Given the description of an element on the screen output the (x, y) to click on. 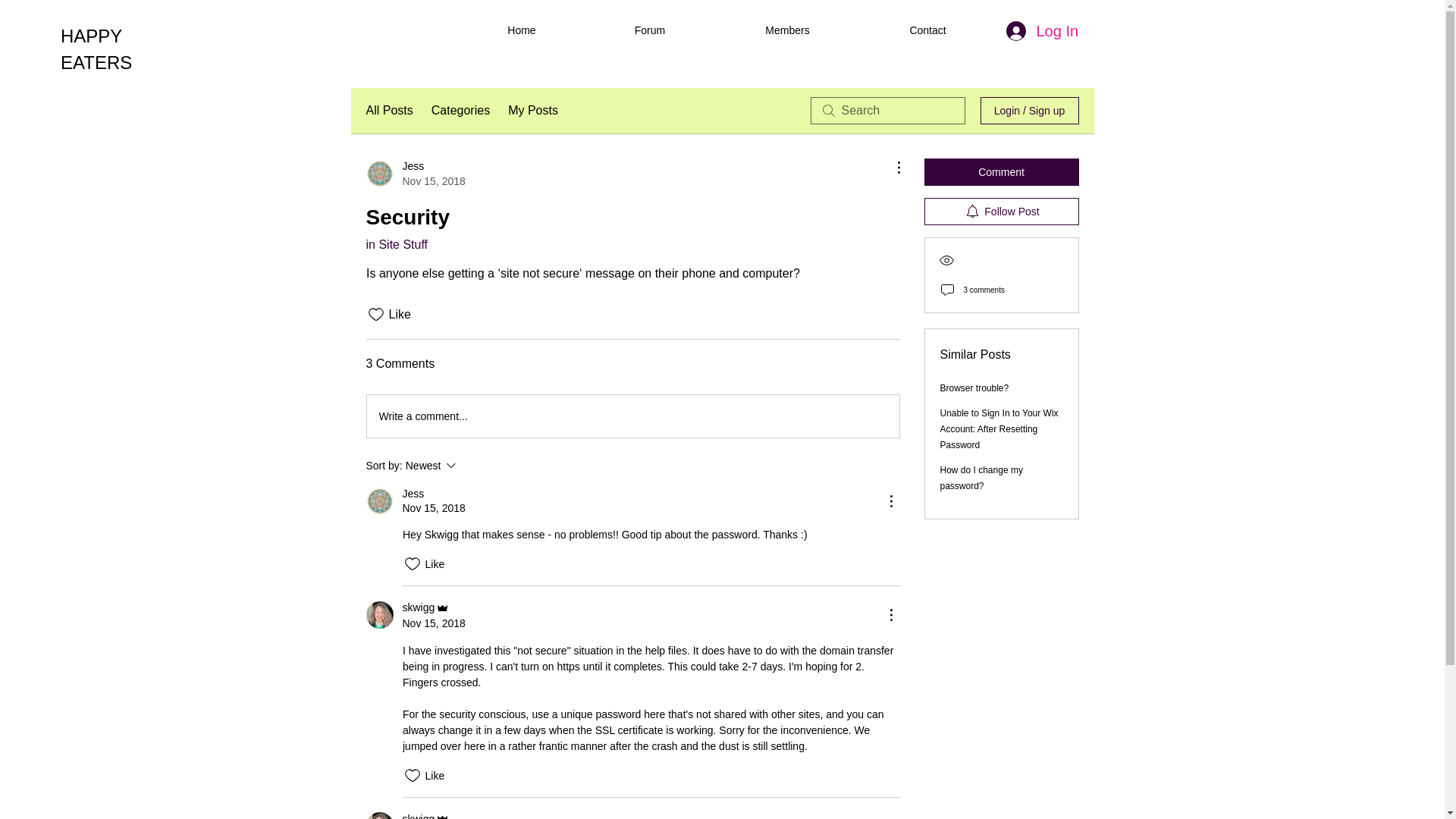
Comment (1000, 171)
skwigg (379, 614)
skwigg (426, 607)
How do I change my password? (981, 478)
Jess (379, 501)
Follow Post (1000, 211)
skwigg (379, 815)
skwigg (414, 173)
Contact (426, 814)
Forum (927, 30)
in Site Stuff (649, 30)
Members (396, 244)
Categories (471, 465)
